Given the description of an element on the screen output the (x, y) to click on. 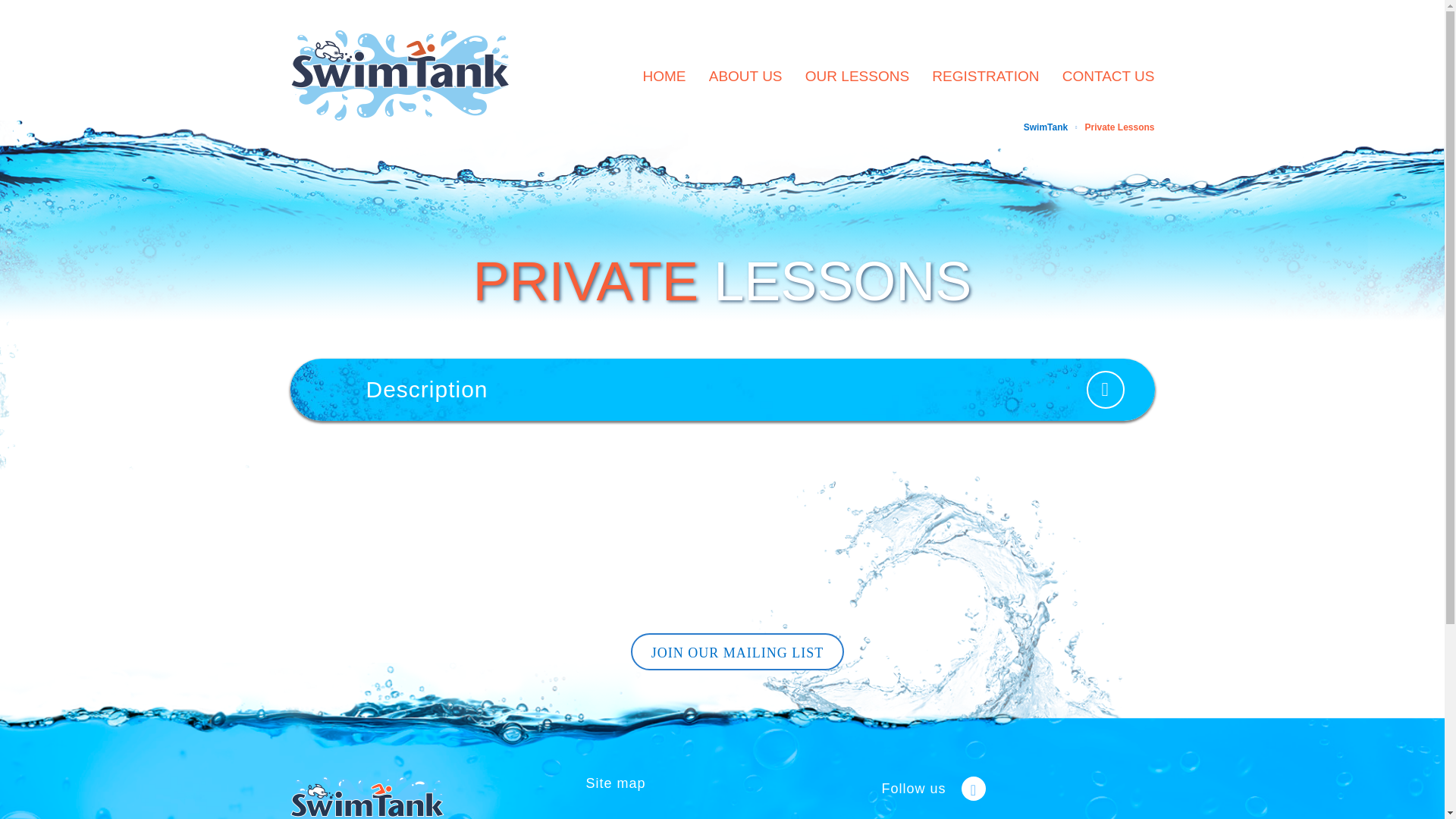
OUR LESSONS (856, 75)
Description (721, 389)
Go to SwimTank. (1045, 127)
CONTACT US (1108, 75)
SwimTank (1045, 127)
JOIN OUR MAILING LIST (737, 651)
ABOUT US (746, 75)
REGISTRATION (985, 75)
HOME (663, 75)
